Given the description of an element on the screen output the (x, y) to click on. 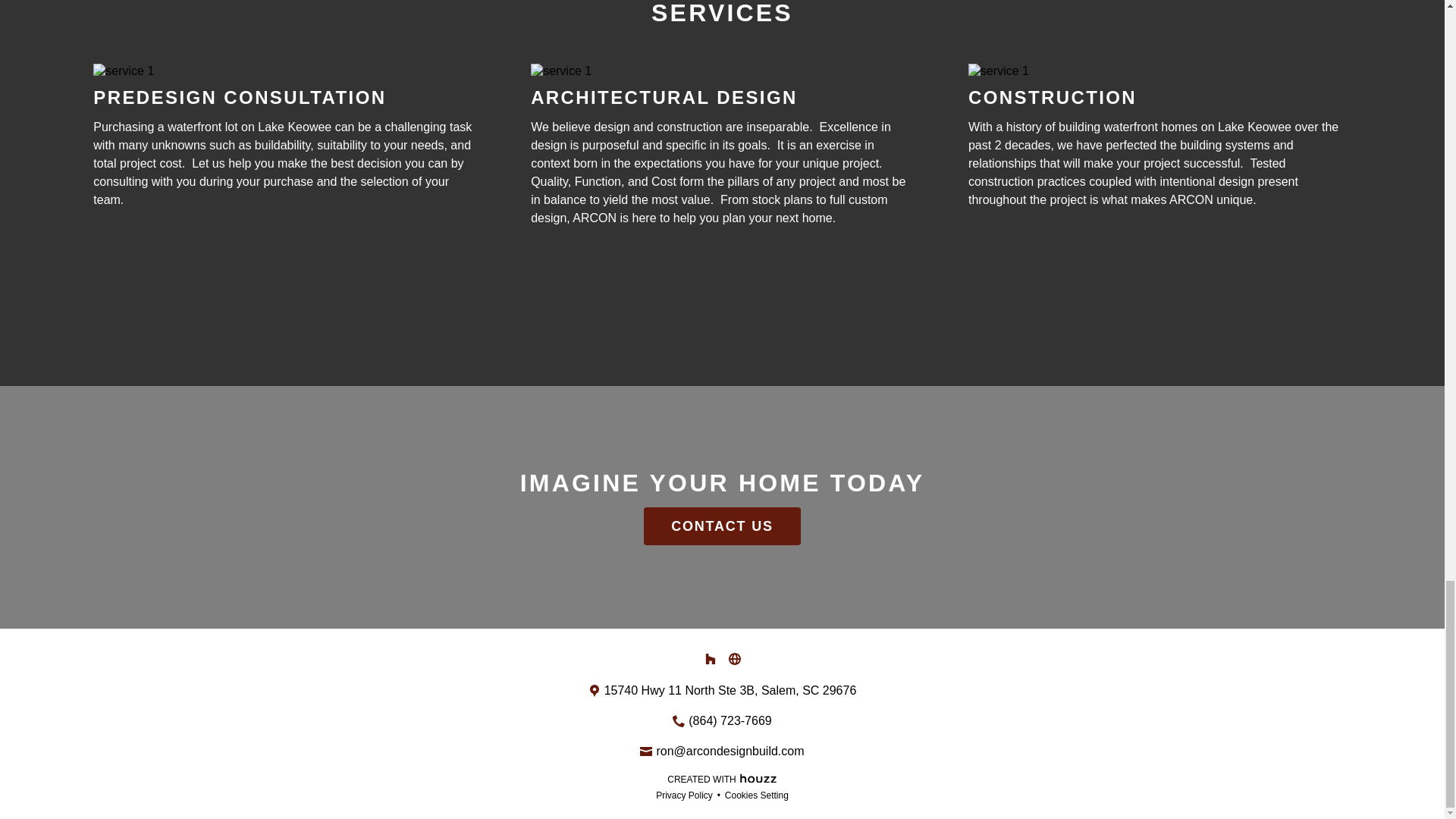
CONTACT US (721, 525)
CREATED WITHHouzz (722, 778)
Privacy Policy (684, 795)
Cookies Setting (757, 795)
15740 Hwy 11 North Ste 3B, Salem, SC 29676 (730, 690)
Houzz (758, 776)
